Given the description of an element on the screen output the (x, y) to click on. 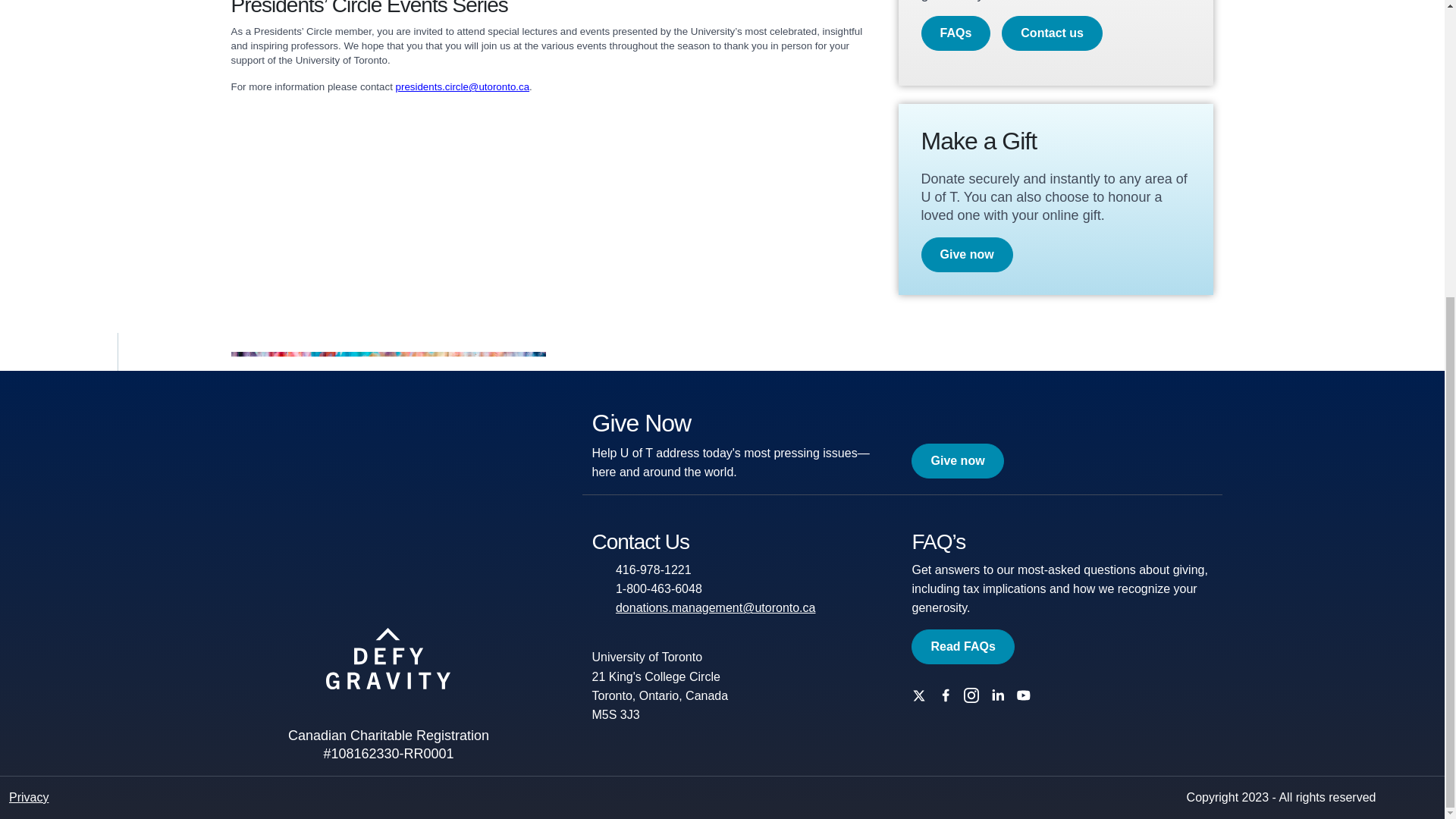
Privacy (28, 797)
Read FAQs (962, 646)
Follow on Instagram (975, 694)
Give now (957, 460)
Follow on LinkedIn (1001, 694)
FAQs (955, 32)
Give now (965, 254)
Follow on YouTube (1027, 694)
Follow on Facebook (948, 694)
Contact us (1051, 32)
